Given the description of an element on the screen output the (x, y) to click on. 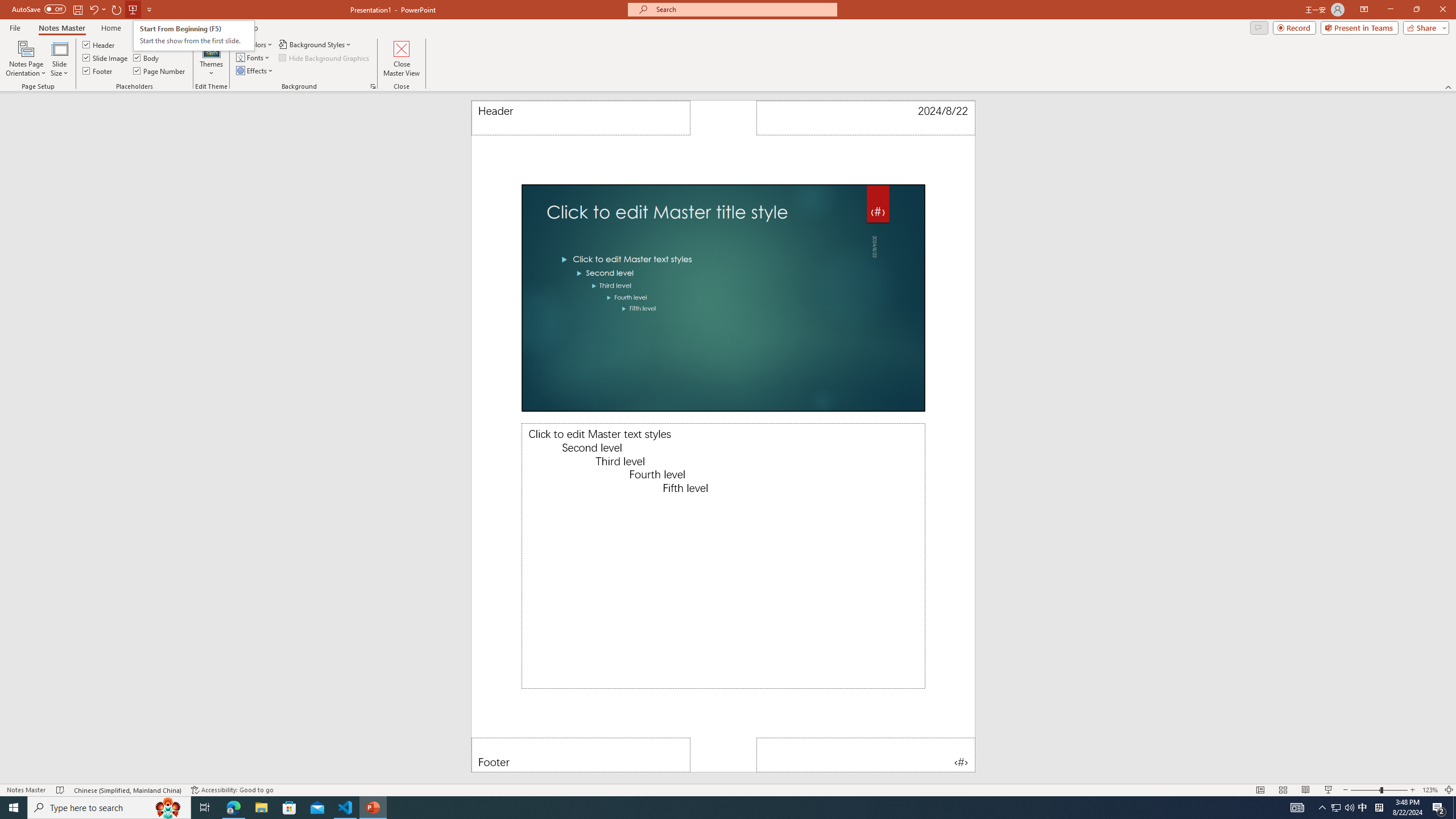
Hide Background Graphics (324, 56)
Date (146, 44)
Page Number (866, 754)
Fonts (253, 56)
Effects (255, 69)
